Given the description of an element on the screen output the (x, y) to click on. 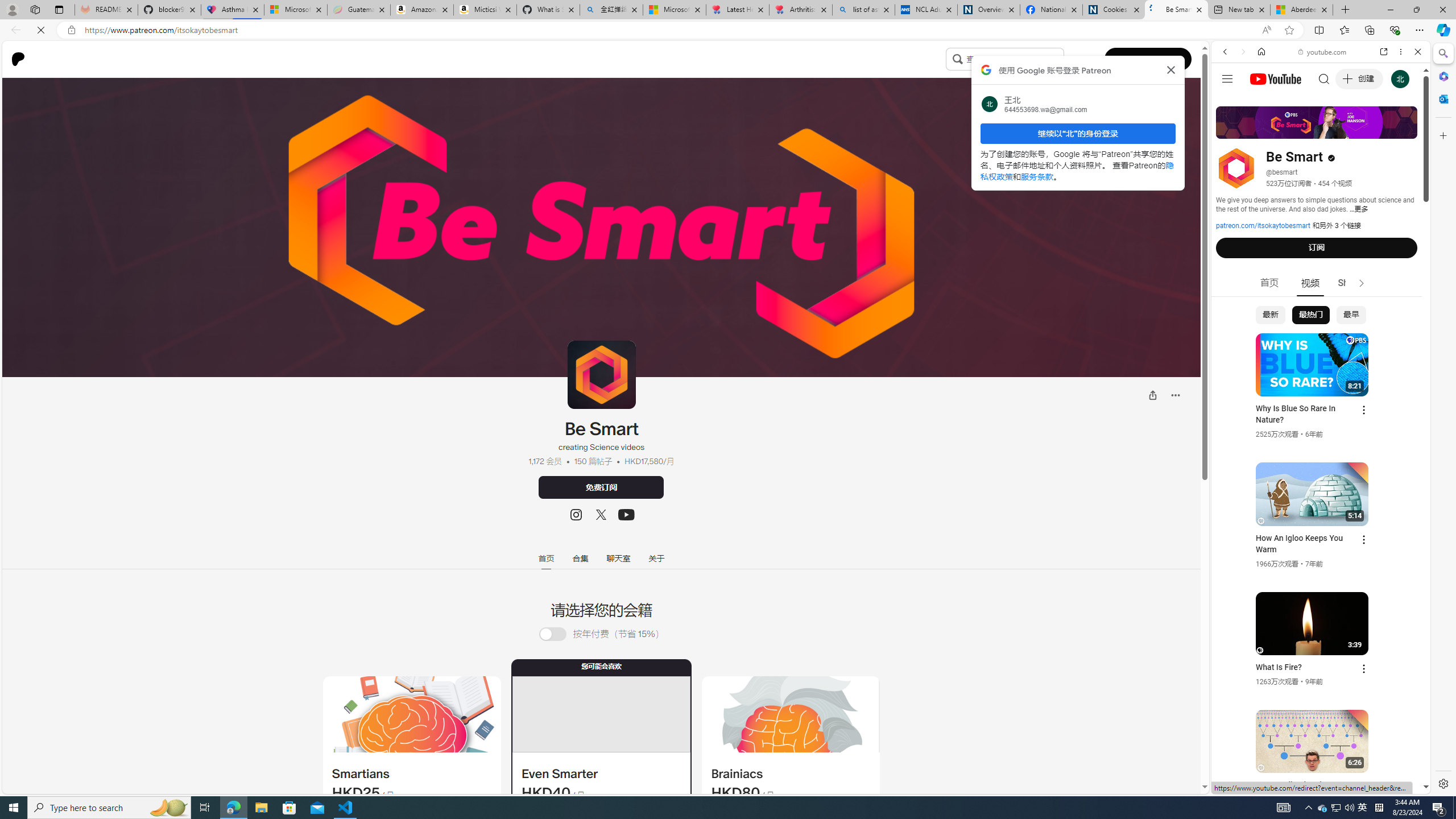
US[ju] (1249, 785)
Class: Bz112c Bz112c-r9oPif (1170, 69)
Go to home page (22, 59)
you (1315, 755)
